Given the description of an element on the screen output the (x, y) to click on. 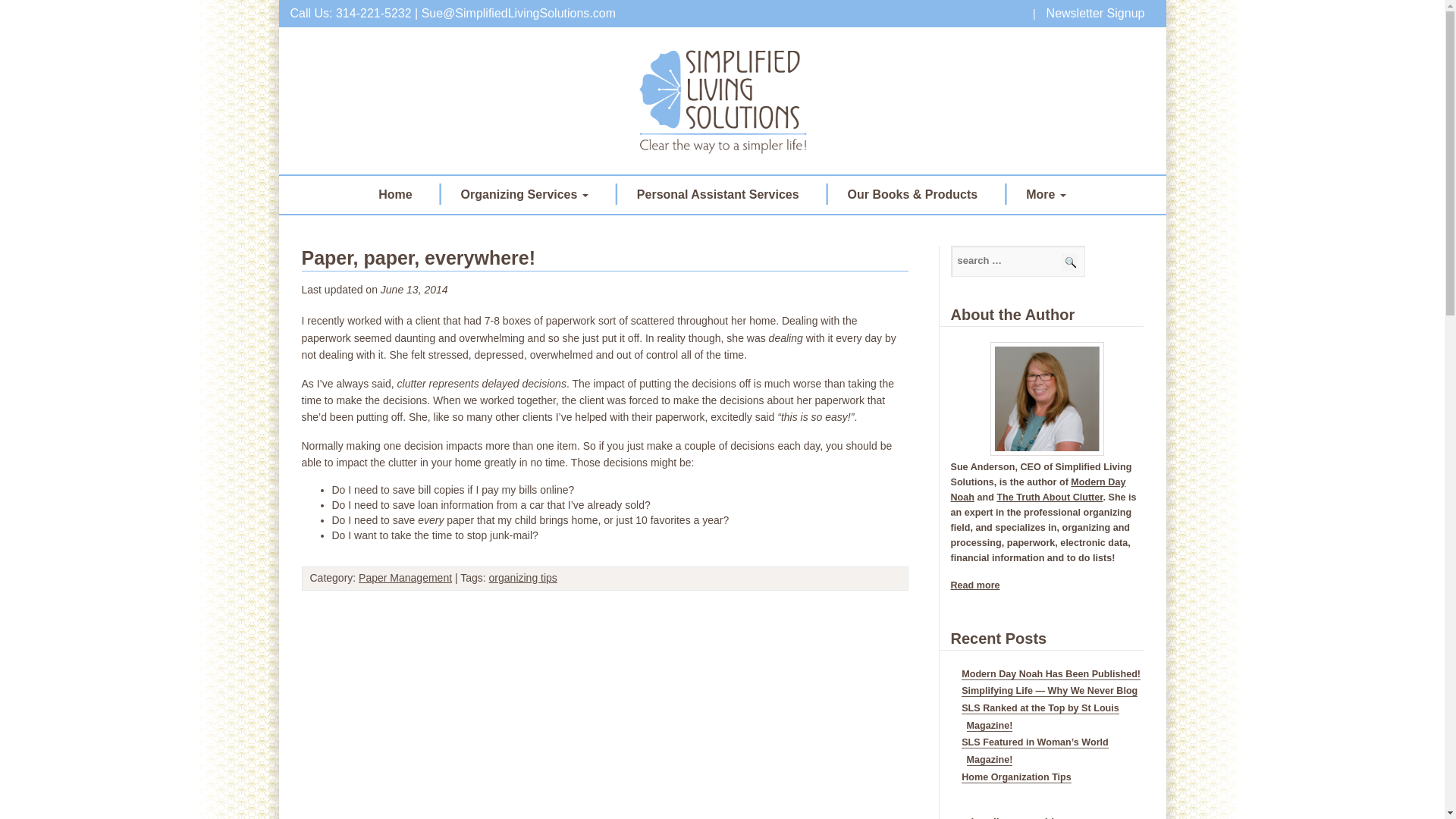
Organizing Services (524, 194)
Simplified Living Solutions (722, 100)
Read more (975, 584)
Home (394, 194)
organizing tips (523, 577)
Newsletter Signup (1096, 13)
Search (1069, 262)
Personal Assistant Services (718, 194)
Home Organization Tips (1015, 777)
Paper Management (404, 577)
